Given the description of an element on the screen output the (x, y) to click on. 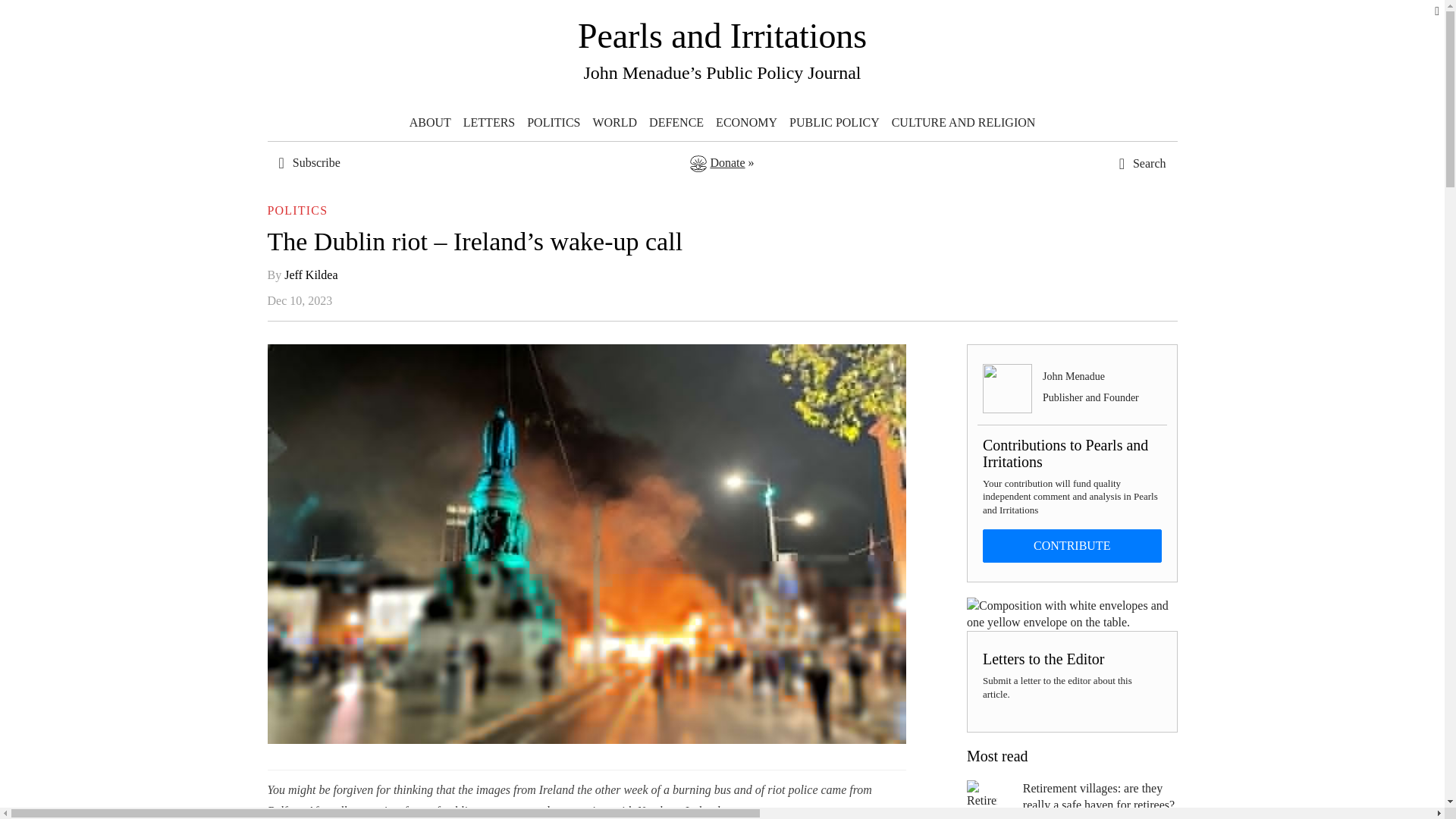
PUBLIC POLICY (834, 122)
POLITICS (553, 122)
Search (1106, 283)
Letters (489, 122)
World (614, 122)
ABOUT (430, 122)
WORLD (614, 122)
DEFENCE (676, 122)
LETTERS (489, 122)
Politics (553, 122)
